Given the description of an element on the screen output the (x, y) to click on. 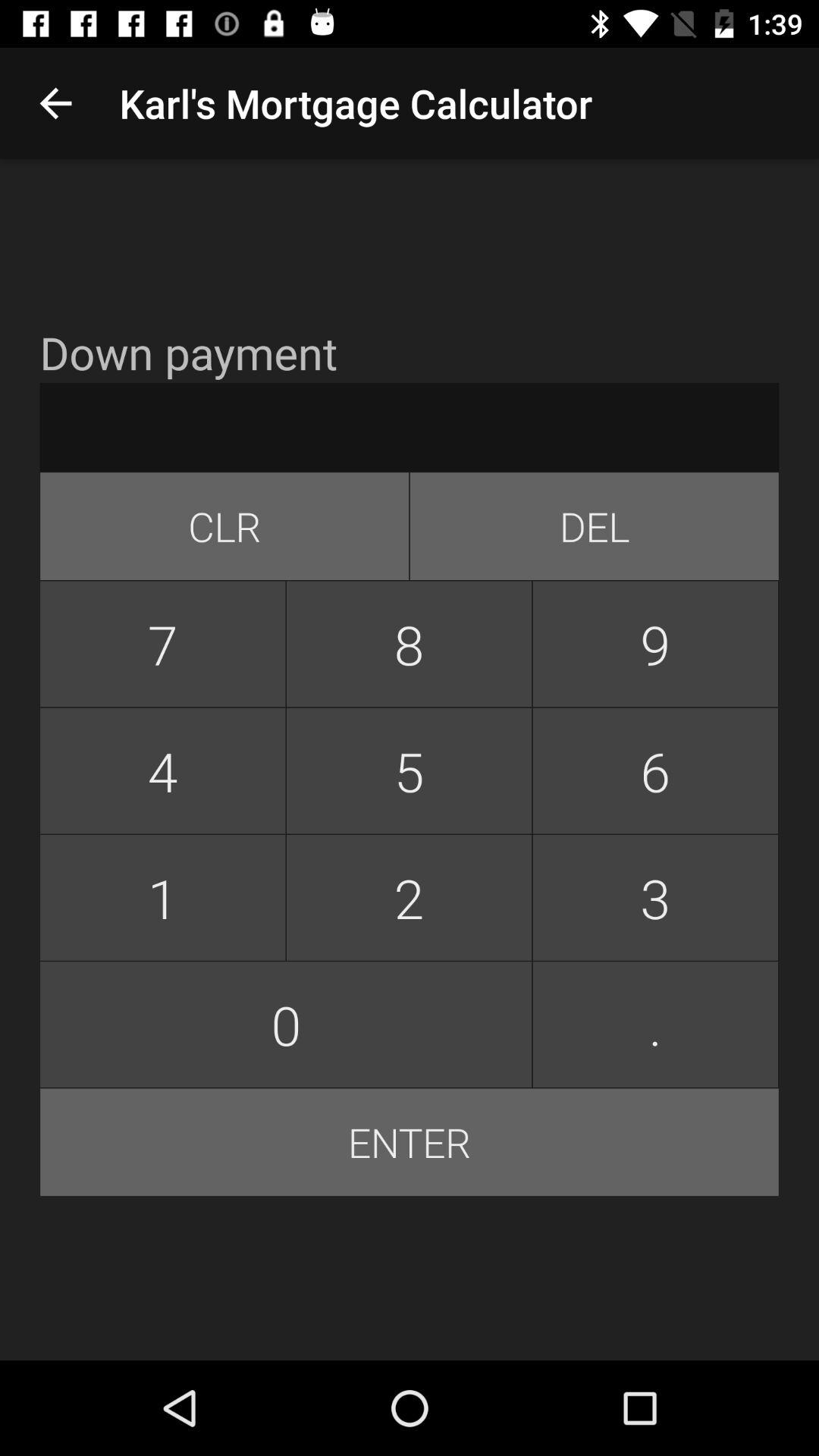
jump to the 1 item (162, 897)
